Given the description of an element on the screen output the (x, y) to click on. 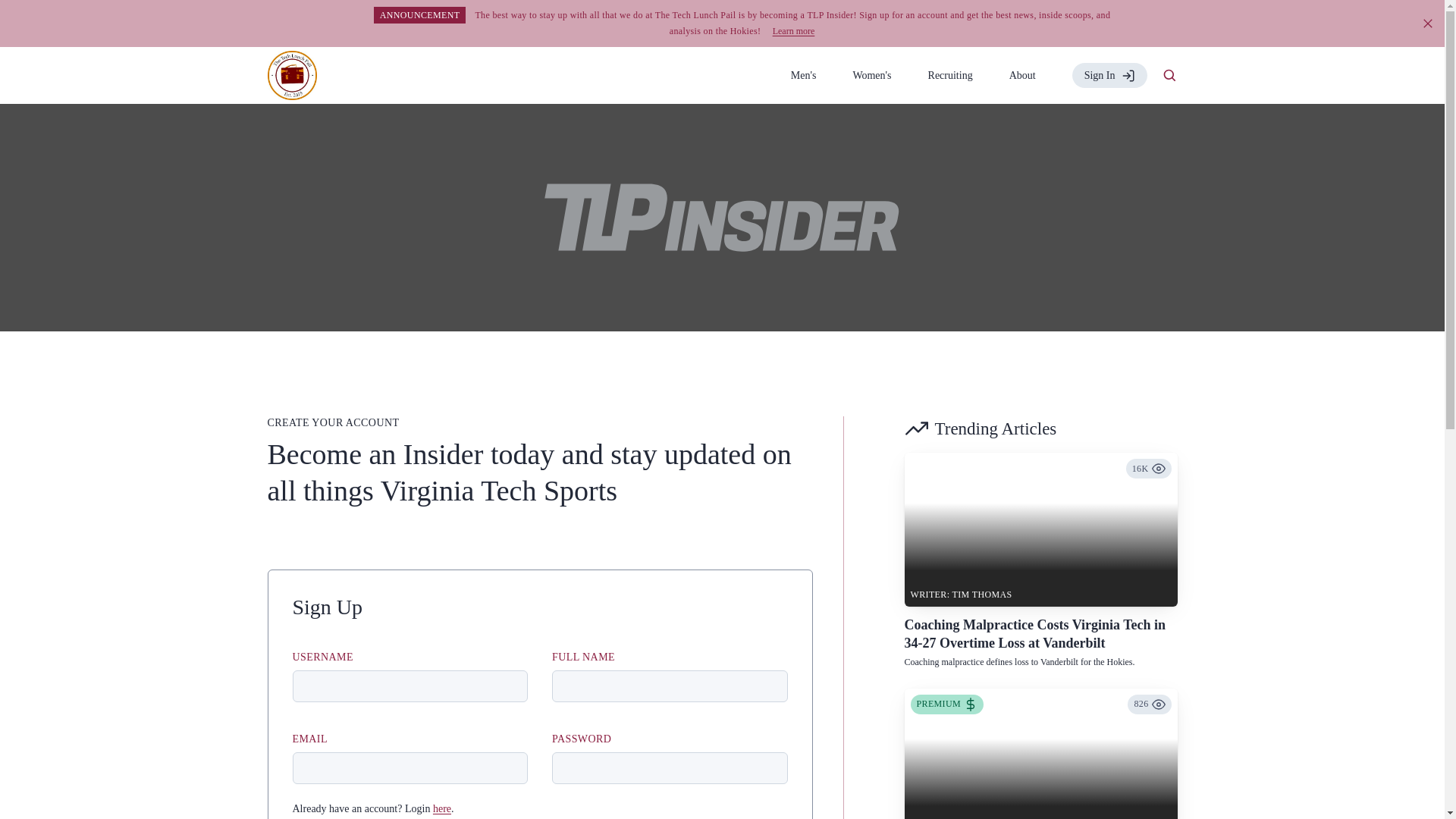
Close banner (1428, 23)
Open search bar (1168, 75)
Return to homepage (290, 74)
Learn more (794, 30)
here (441, 808)
Sign In (1109, 75)
